Given the description of an element on the screen output the (x, y) to click on. 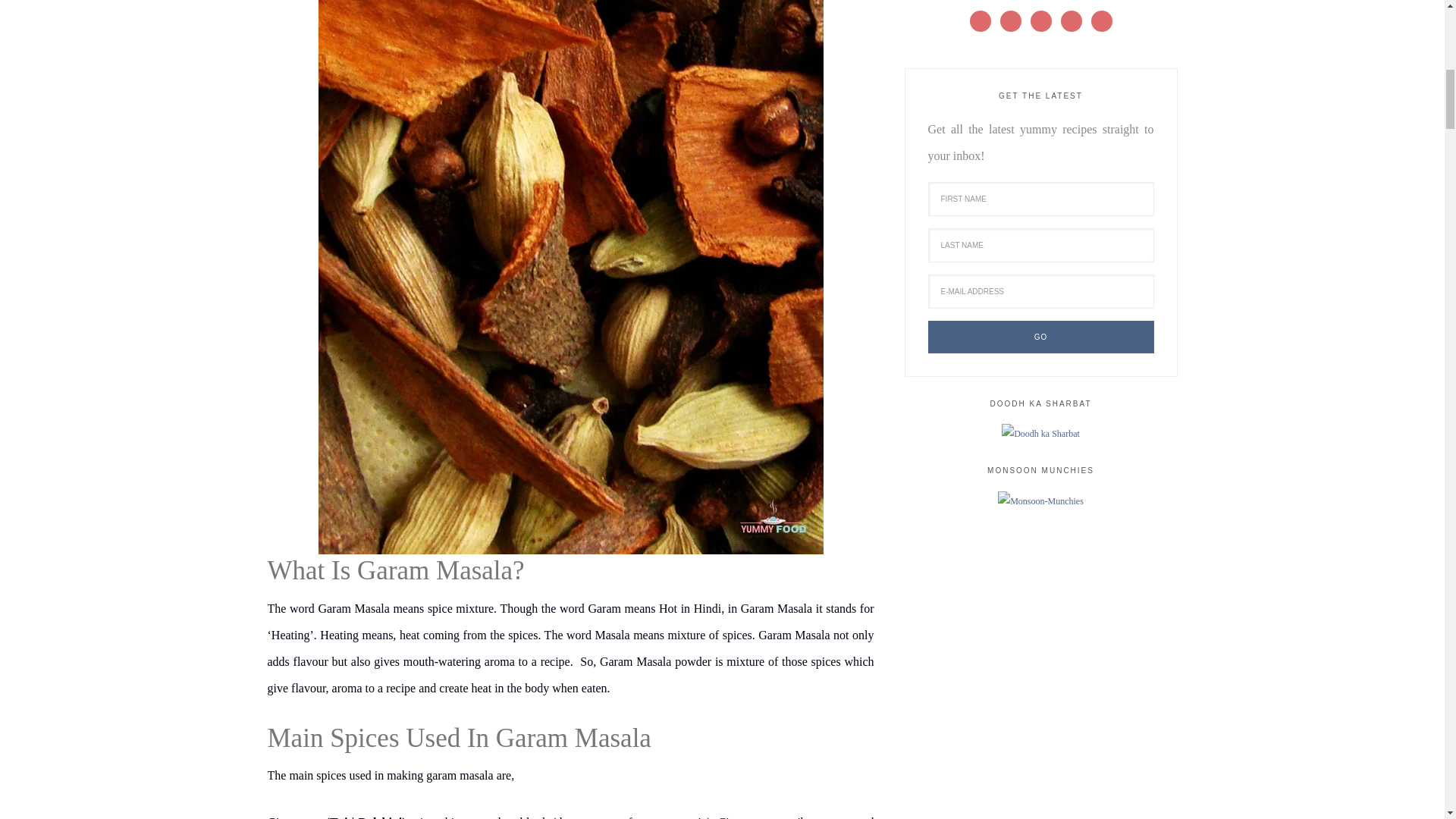
Go (1041, 336)
